Given the description of an element on the screen output the (x, y) to click on. 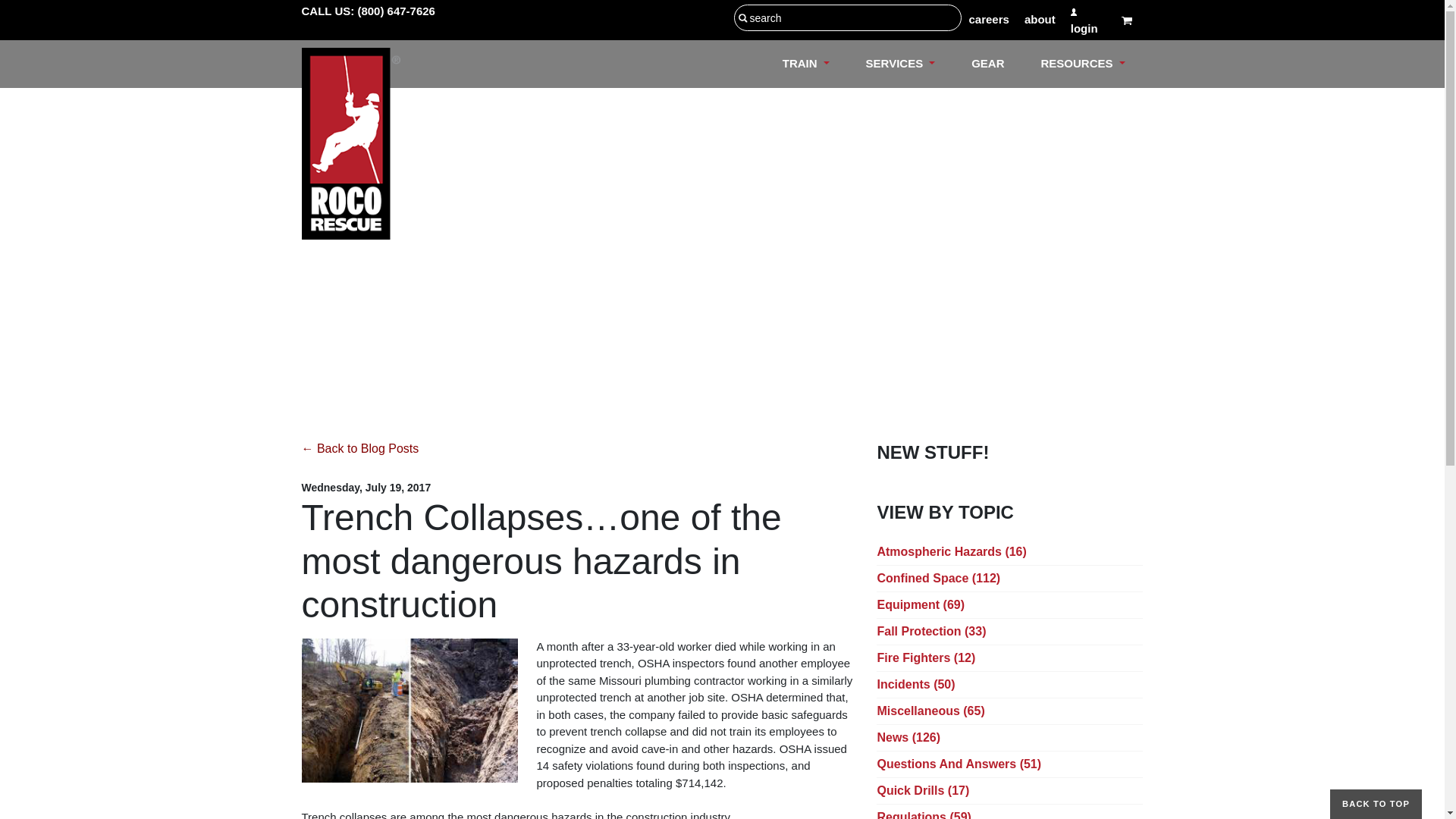
about (1040, 19)
login (1088, 19)
GEAR (987, 63)
RESOURCES (1082, 63)
careers (989, 19)
SERVICES (900, 63)
TRAIN (805, 63)
